Given the description of an element on the screen output the (x, y) to click on. 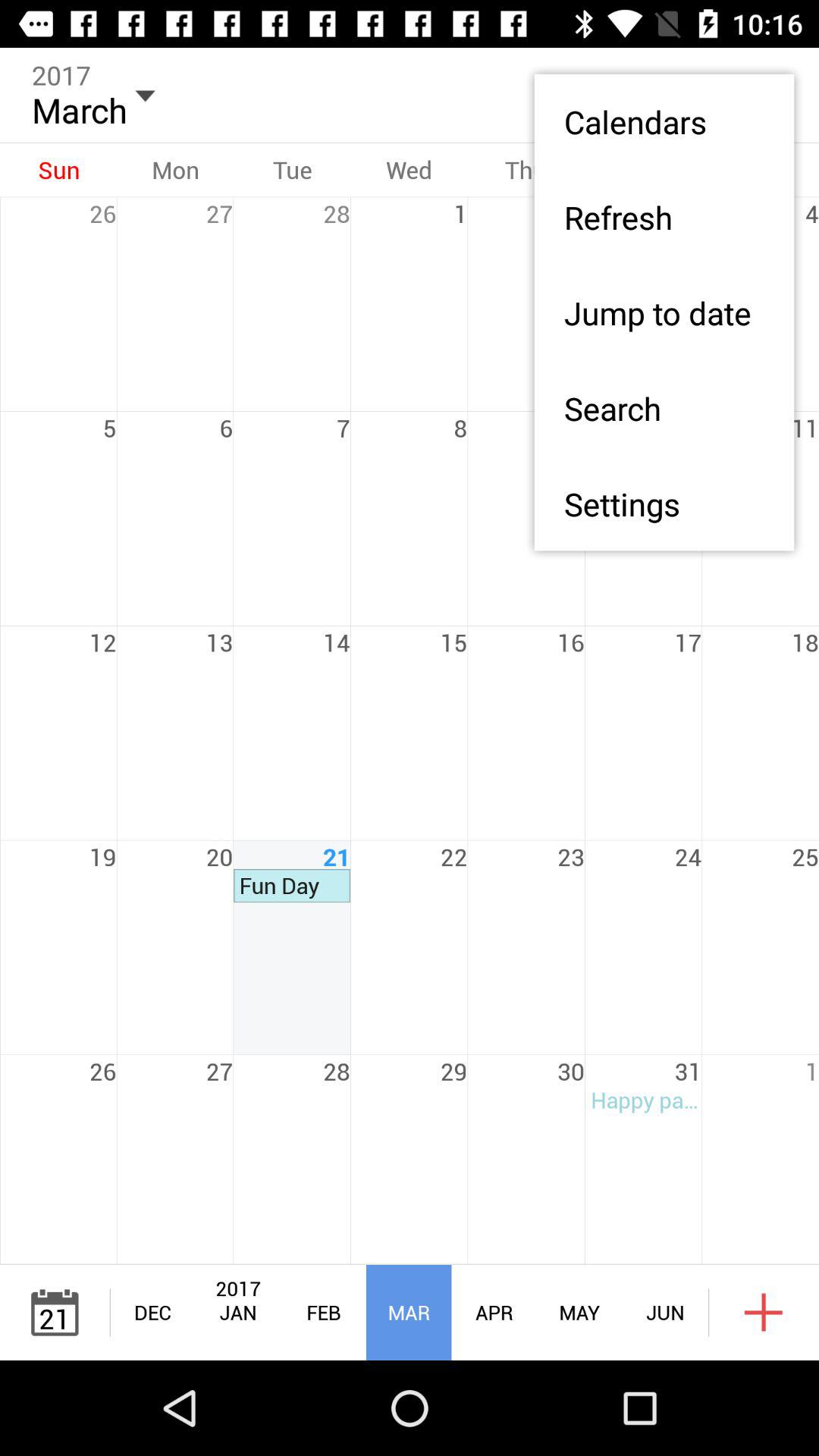
choose jump to date item (664, 312)
